Given the description of an element on the screen output the (x, y) to click on. 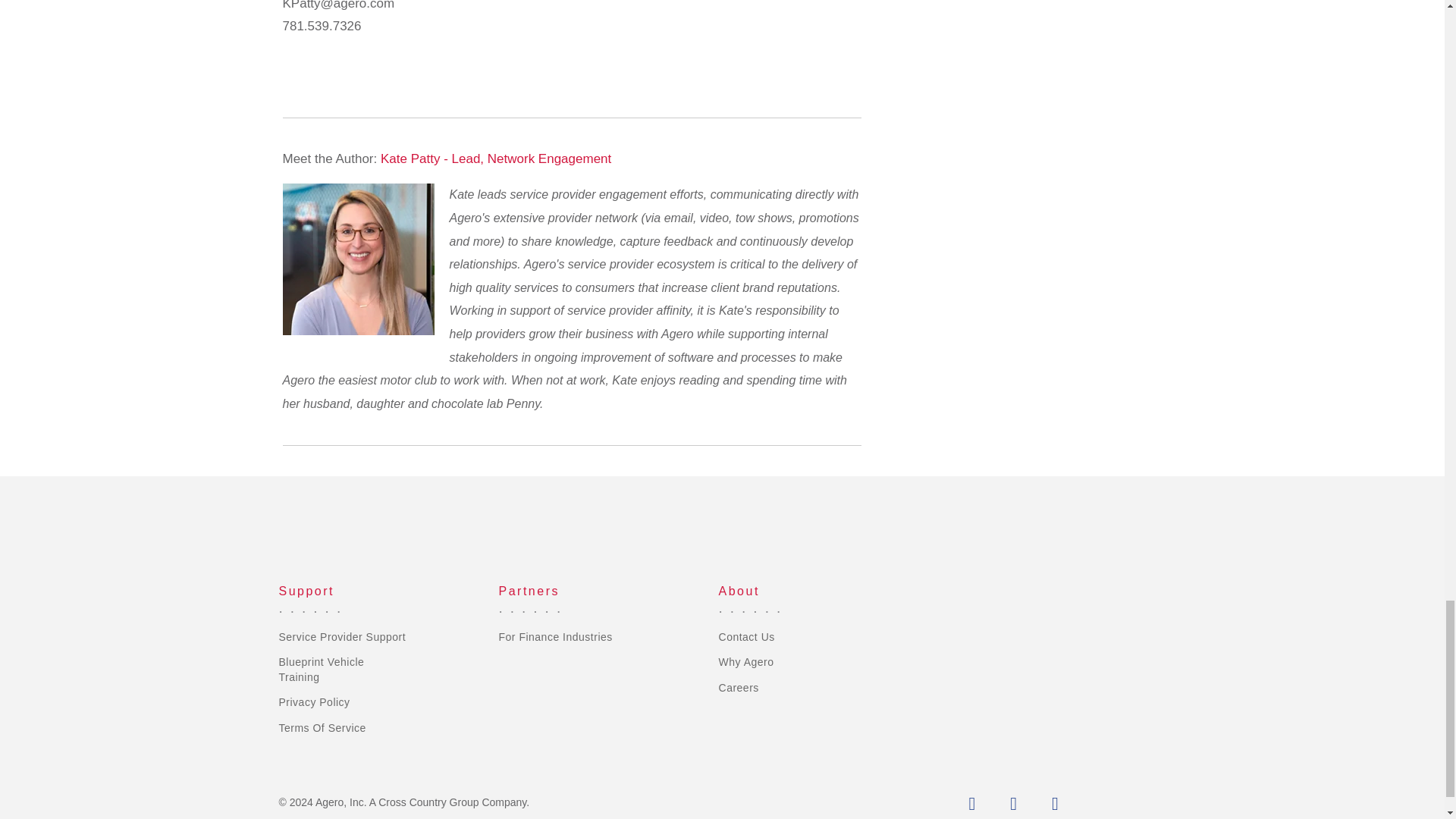
Kate Patty - Lead, Network Engagement (495, 158)
